Given the description of an element on the screen output the (x, y) to click on. 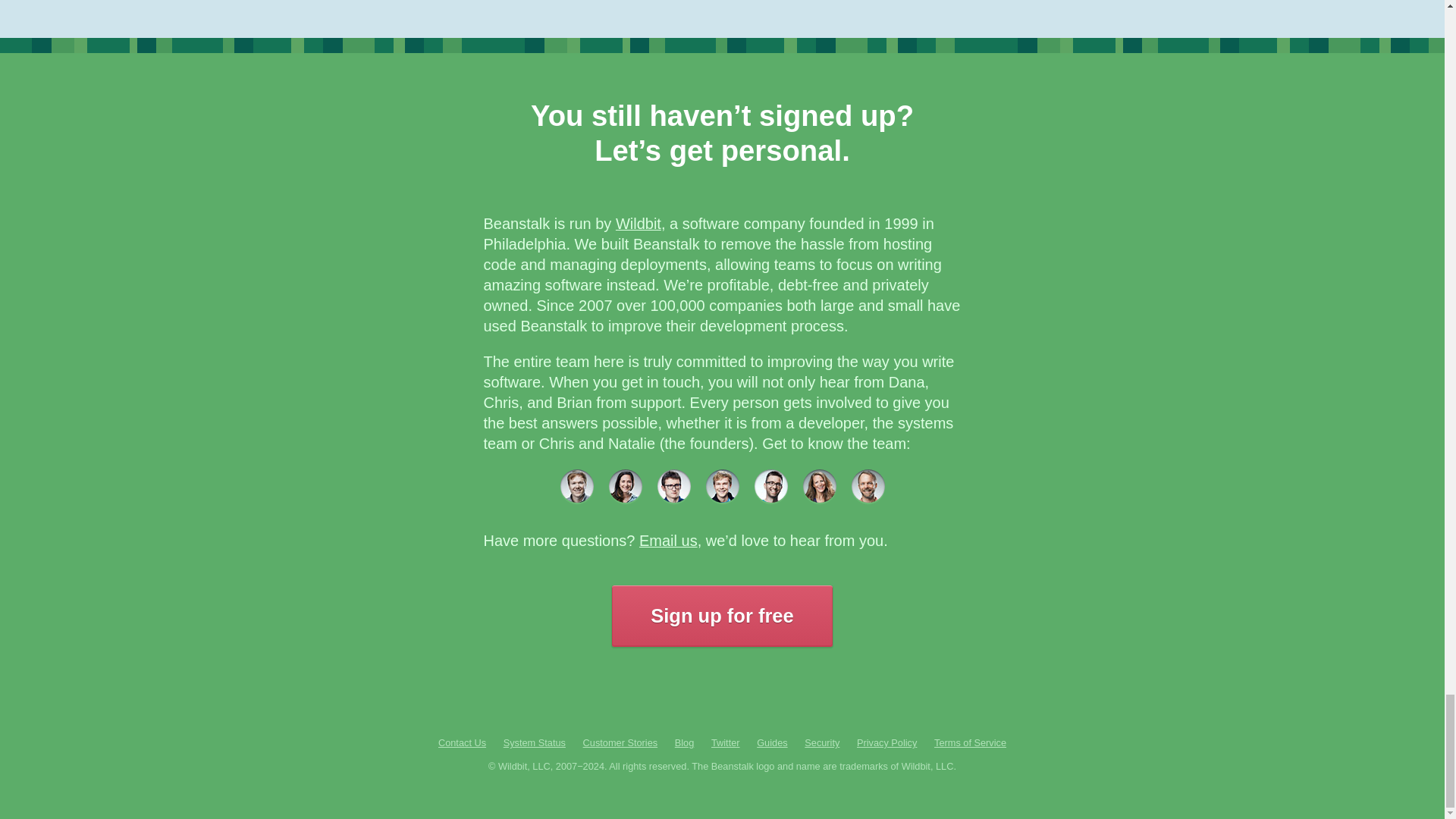
Terms of Service (970, 742)
Contact Us (462, 742)
Igor Balos (770, 485)
System Status (534, 742)
Chris Nagele (575, 485)
Ilya Sabanin (721, 485)
Sign up for free (721, 616)
Natalie Nagele (625, 485)
Guides (772, 742)
Privacy Policy (887, 742)
Email us (668, 540)
Chris Bowler (866, 485)
Dana Chaby (818, 485)
Blog (684, 742)
Customer Stories (620, 742)
